Given the description of an element on the screen output the (x, y) to click on. 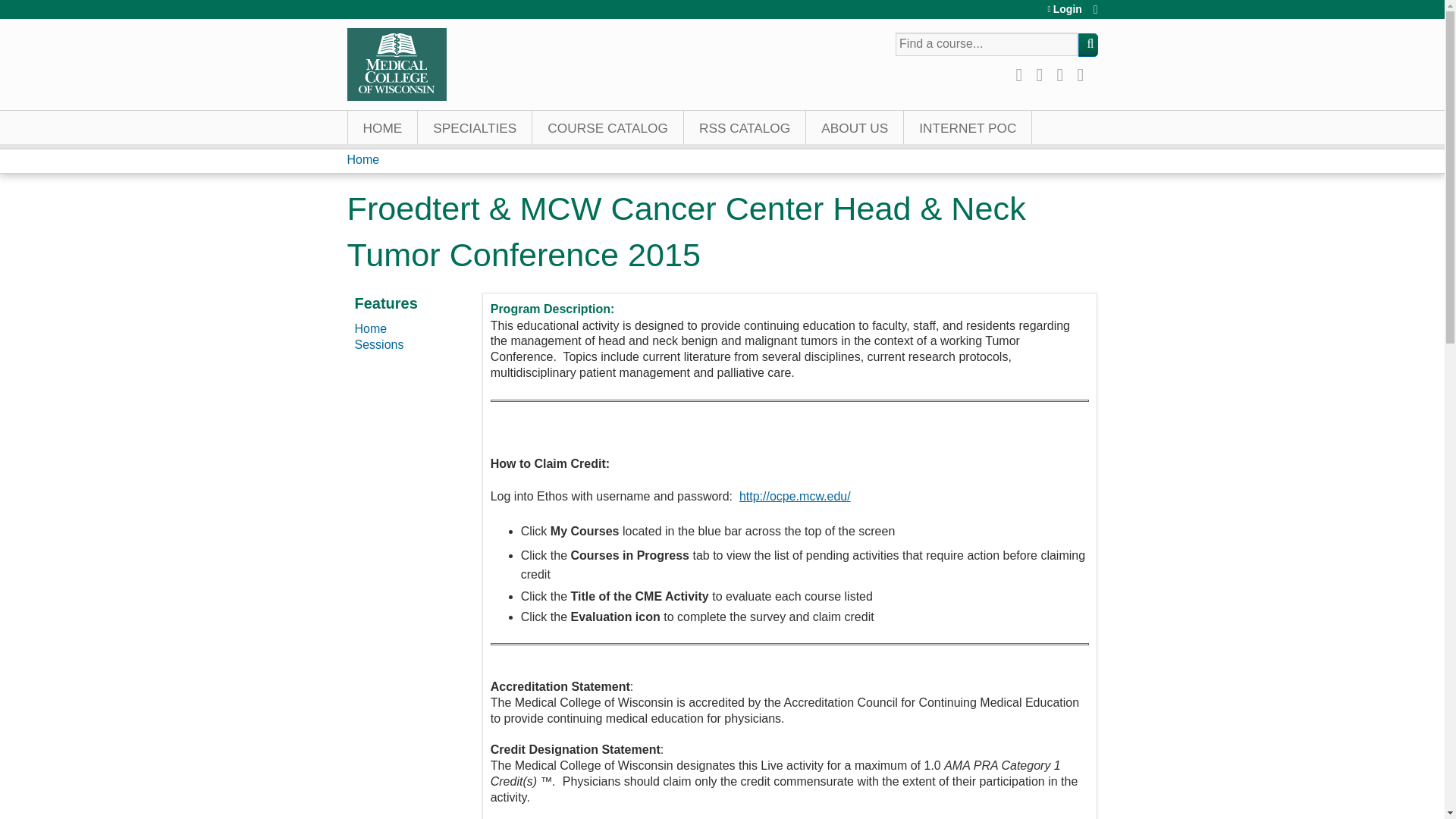
COURSE CATALOG (608, 127)
INTERNET POC (968, 127)
Search (1087, 44)
Cart (1095, 14)
About Us (855, 127)
Home (396, 63)
Search (1087, 44)
Home (363, 159)
Publish this post to LinkedIn (1064, 72)
Grand Rounds (745, 127)
RSS CATALOG (745, 127)
Twitter (1043, 72)
EthosCE Learning Groups (474, 127)
Click here to access Internet Point of Care CME (968, 127)
ABOUT US (855, 127)
